Given the description of an element on the screen output the (x, y) to click on. 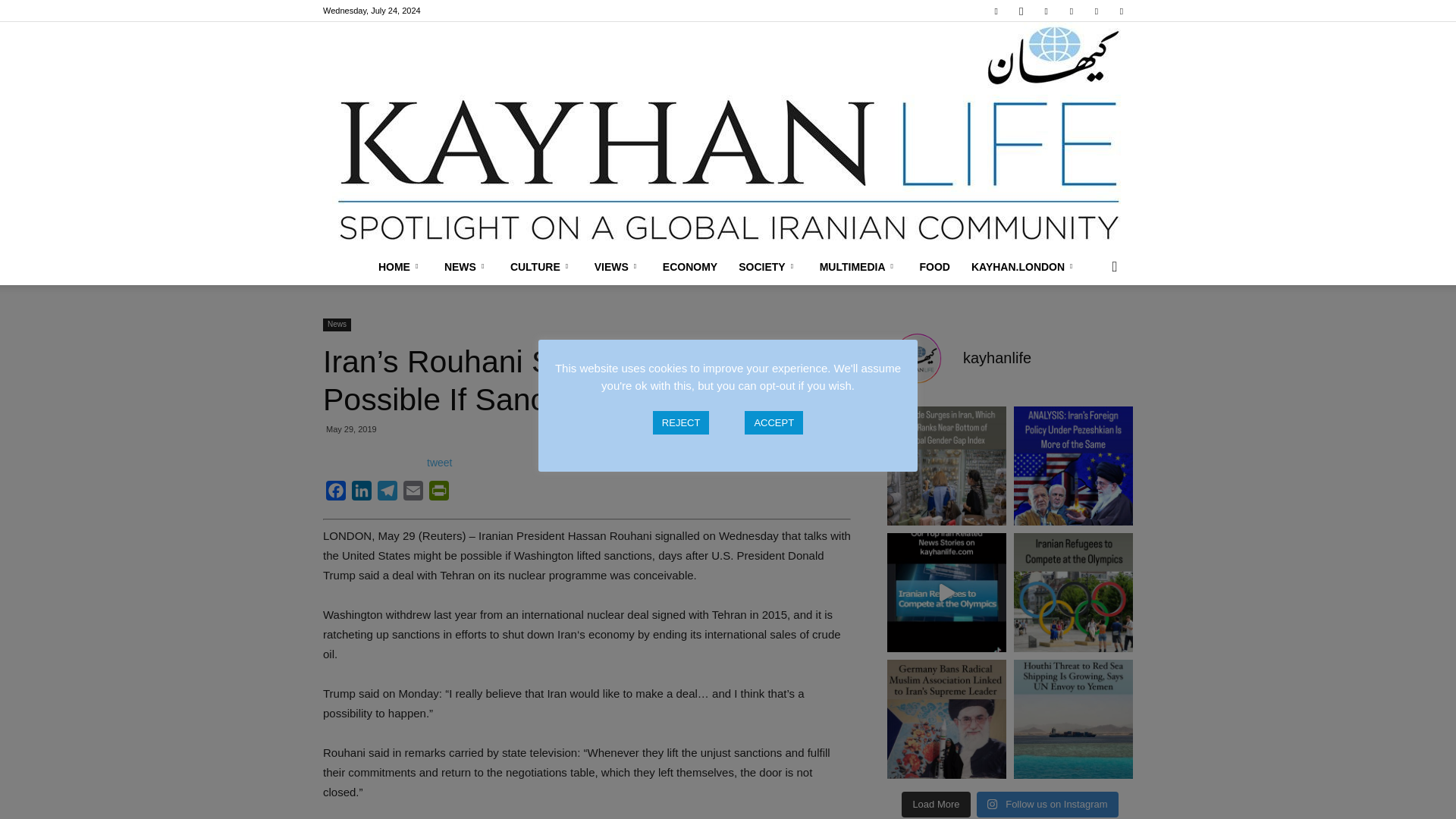
Youtube (1120, 10)
Pinterest (1071, 10)
Instagram (1021, 10)
Facebook (336, 493)
Twitter (1096, 10)
LinkedIn (361, 493)
Facebook (996, 10)
Linkedin (1046, 10)
